Given the description of an element on the screen output the (x, y) to click on. 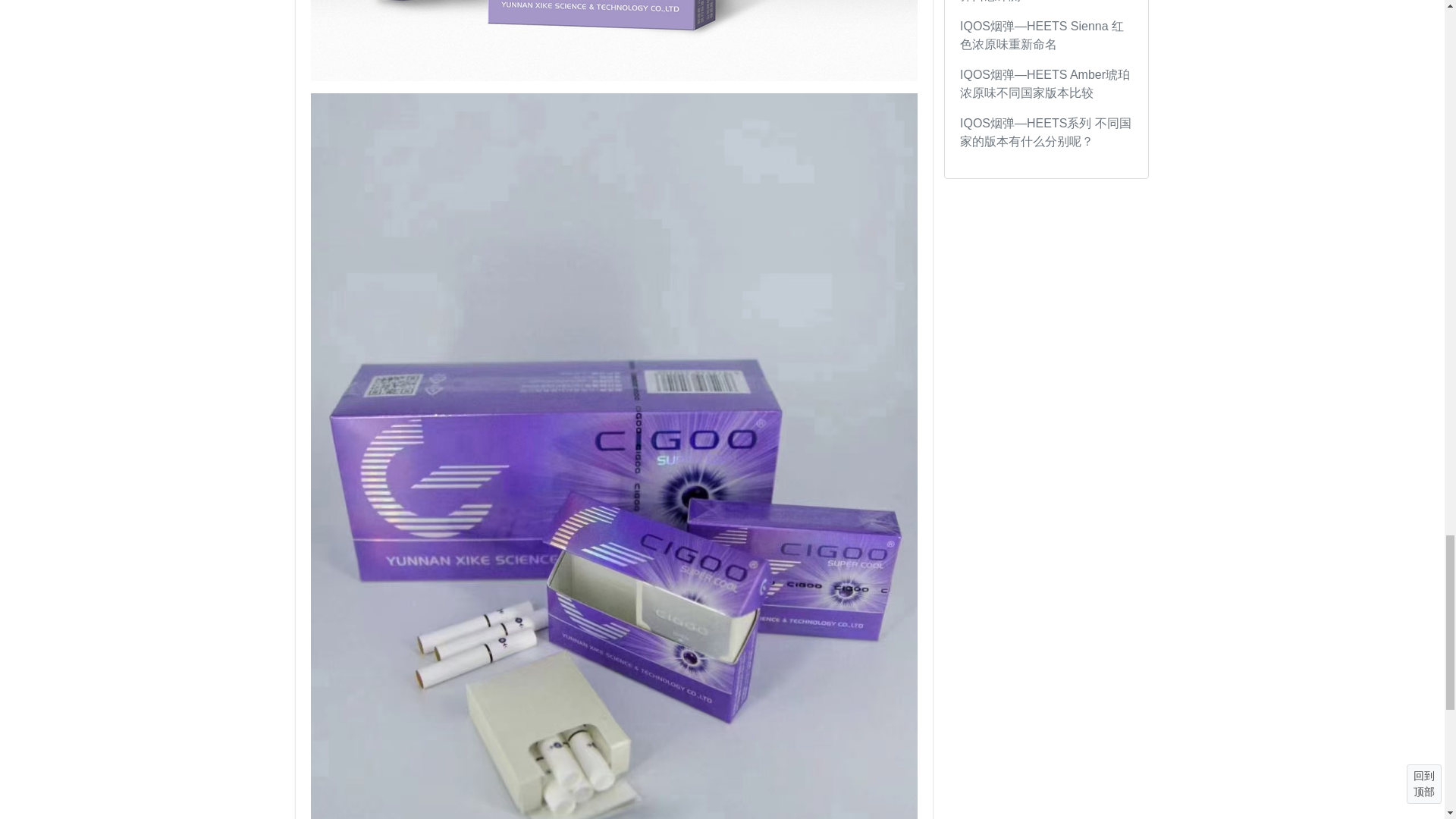
5f3958014f70d.jpg (614, 40)
